Given the description of an element on the screen output the (x, y) to click on. 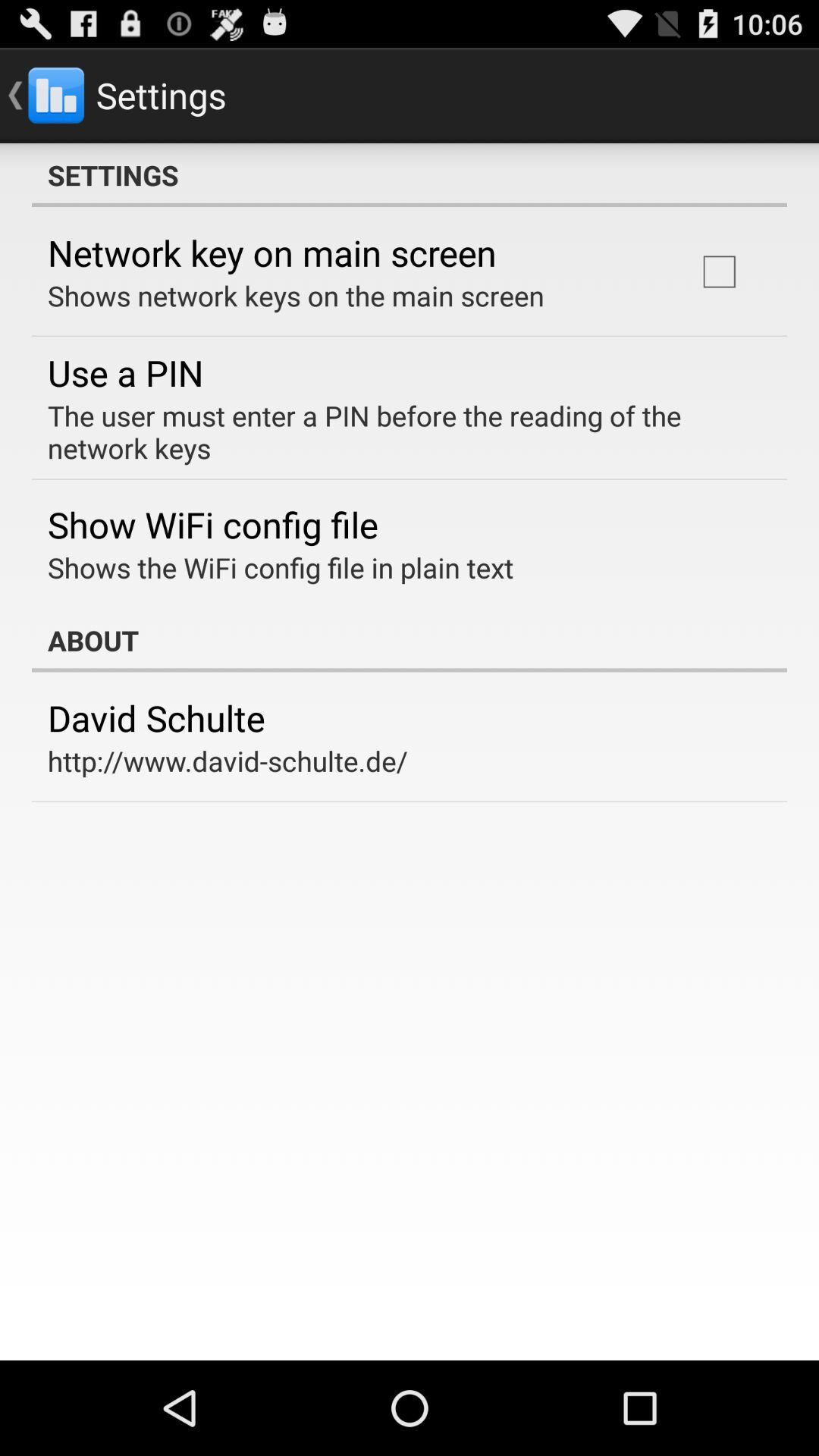
launch the app above the david schulte (409, 640)
